Given the description of an element on the screen output the (x, y) to click on. 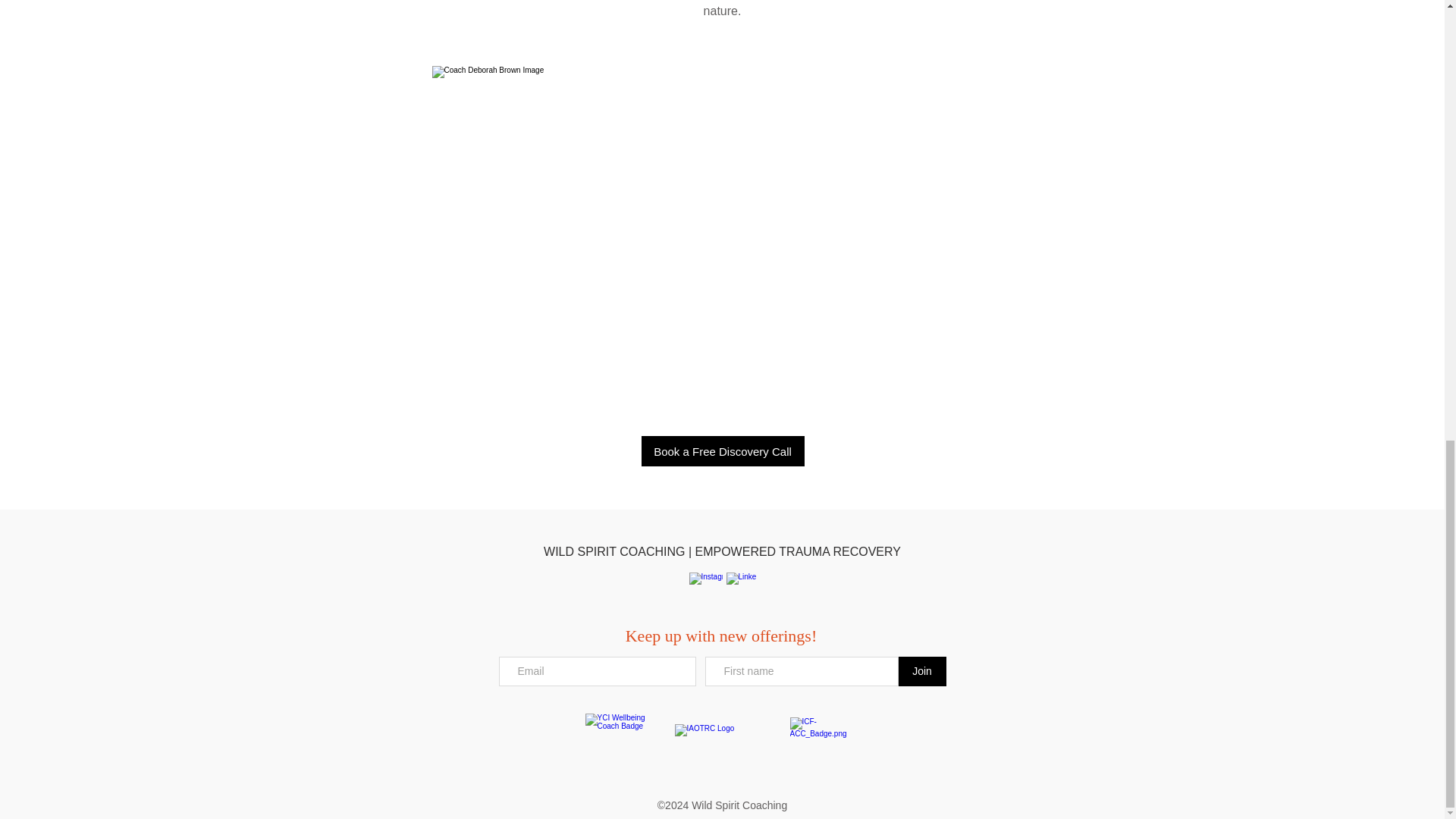
Join (921, 671)
Book a Free Discovery Call (723, 450)
